Given the description of an element on the screen output the (x, y) to click on. 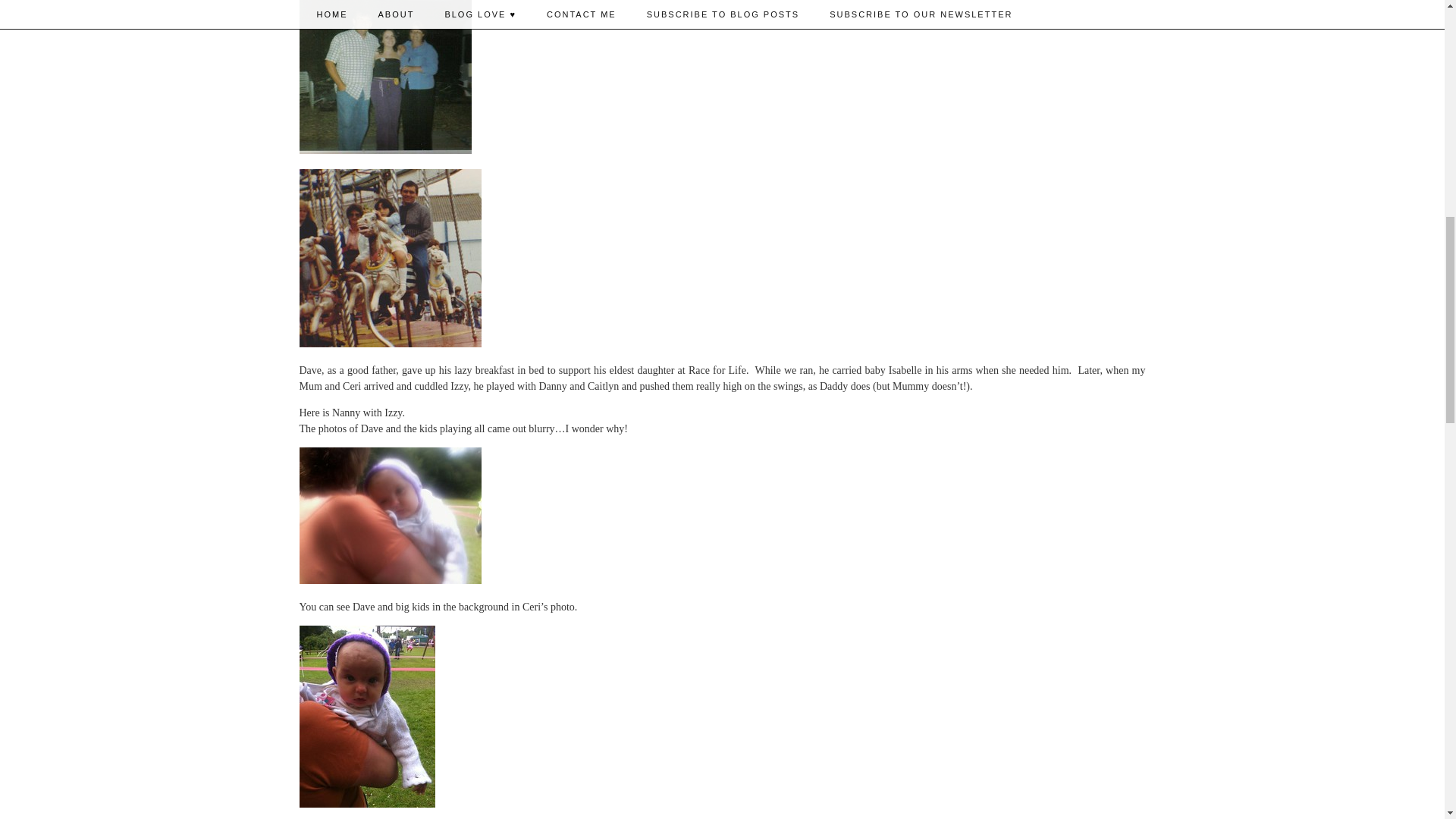
2012-06-17 12.27.01 by Evans-Critten, on Flickr (389, 580)
mumdadme21 by Evans-Critten, on Flickr (384, 150)
carousel by Evans-Critten, on Flickr (389, 343)
